Given the description of an element on the screen output the (x, y) to click on. 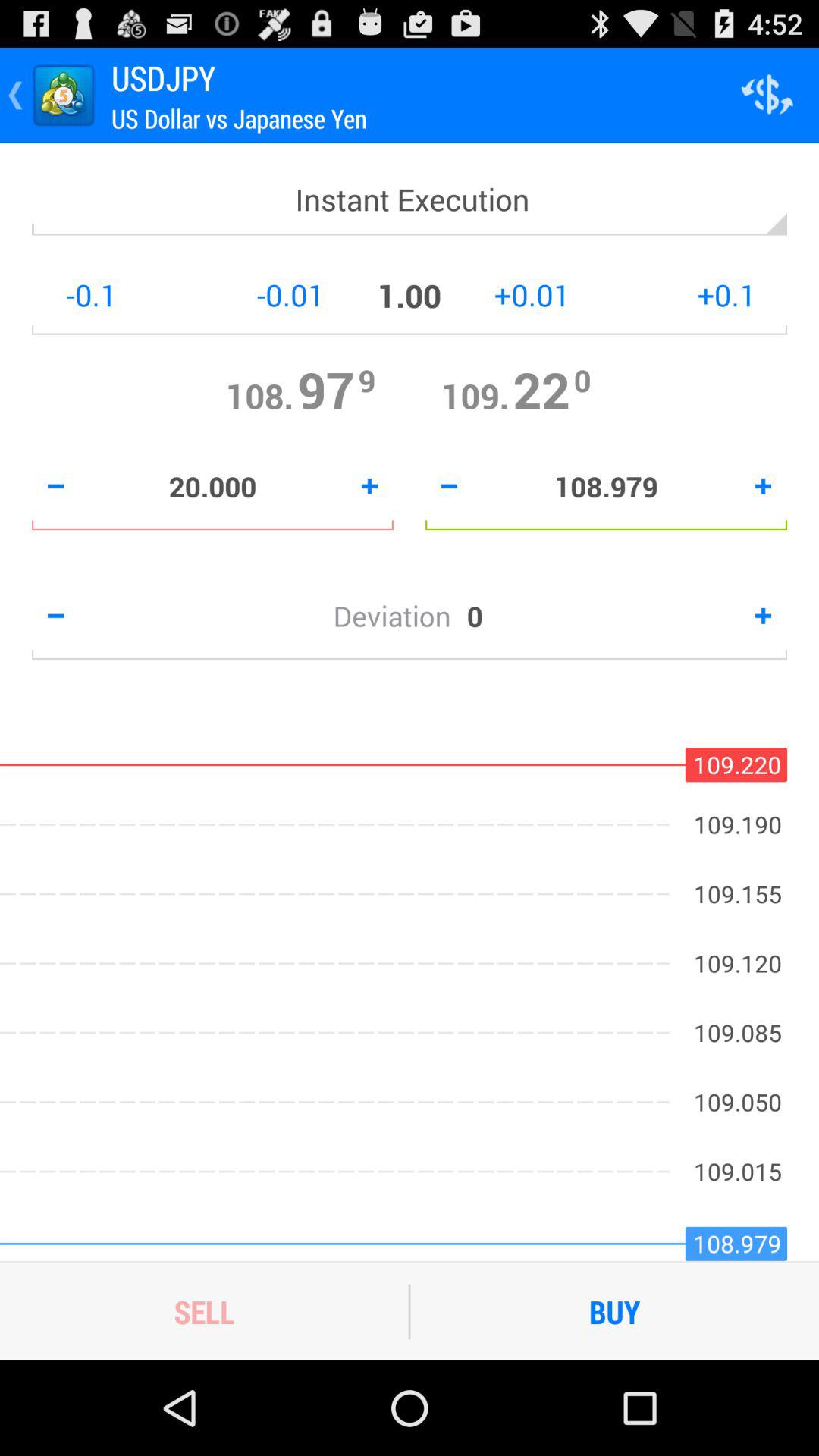
turn on the buy icon (614, 1311)
